Given the description of an element on the screen output the (x, y) to click on. 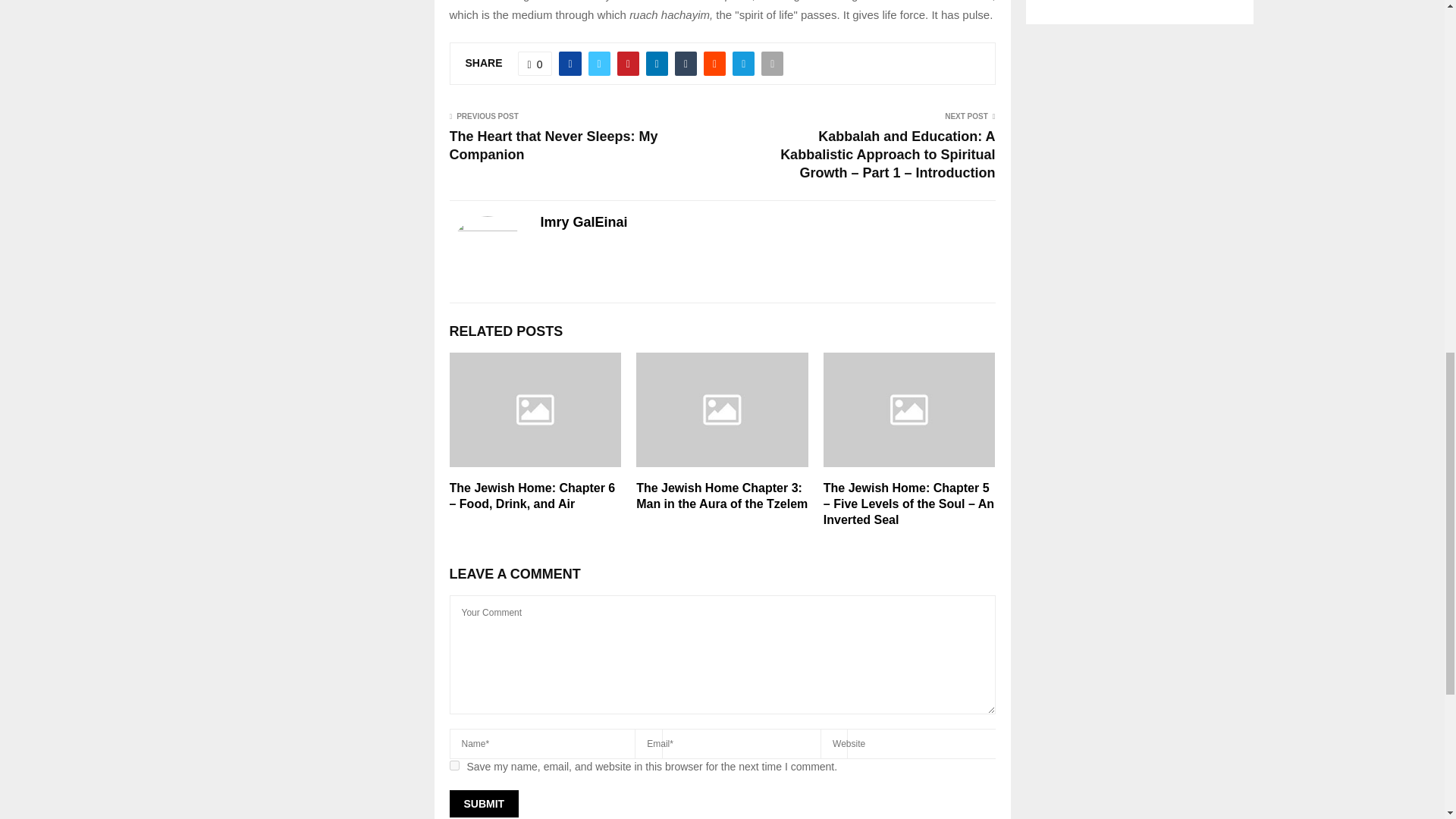
Submit (483, 803)
Like (535, 63)
yes (453, 765)
